Given the description of an element on the screen output the (x, y) to click on. 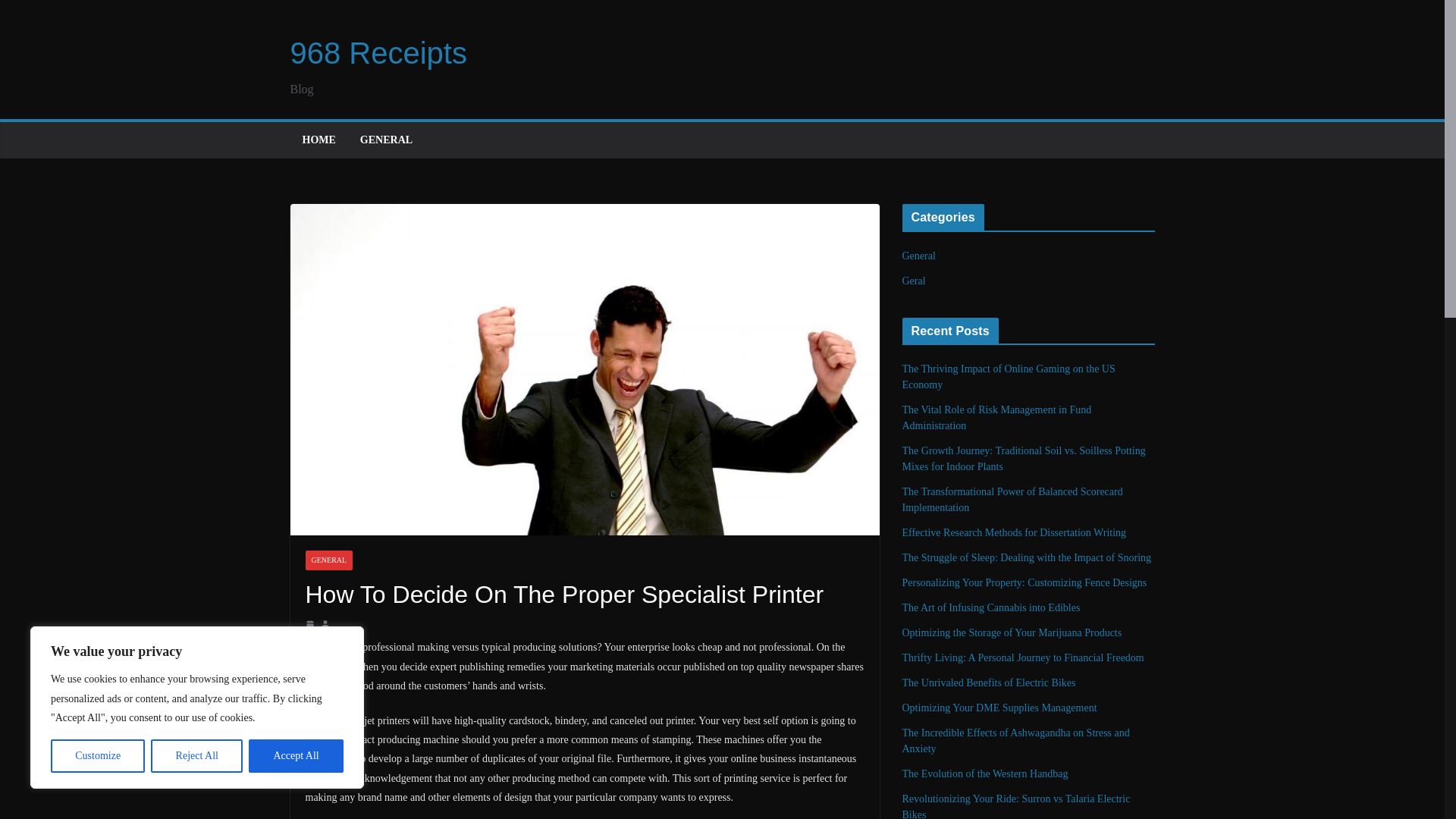
Optimizing the Storage of Your Marijuana Products (1012, 632)
Effective Research Methods for Dissertation Writing (1014, 532)
GENERAL (328, 560)
968 Receipts (377, 52)
The Vital Role of Risk Management in Fund Administration (997, 417)
968 Receipts (377, 52)
The Struggle of Sleep: Dealing with the Impact of Snoring (1026, 557)
The Art of Infusing Cannabis into Edibles (991, 607)
Accept All (295, 756)
Customize (97, 756)
Personalizing Your Property: Customizing Fence Designs (1024, 582)
Geral (914, 280)
Reject All (197, 756)
